Given the description of an element on the screen output the (x, y) to click on. 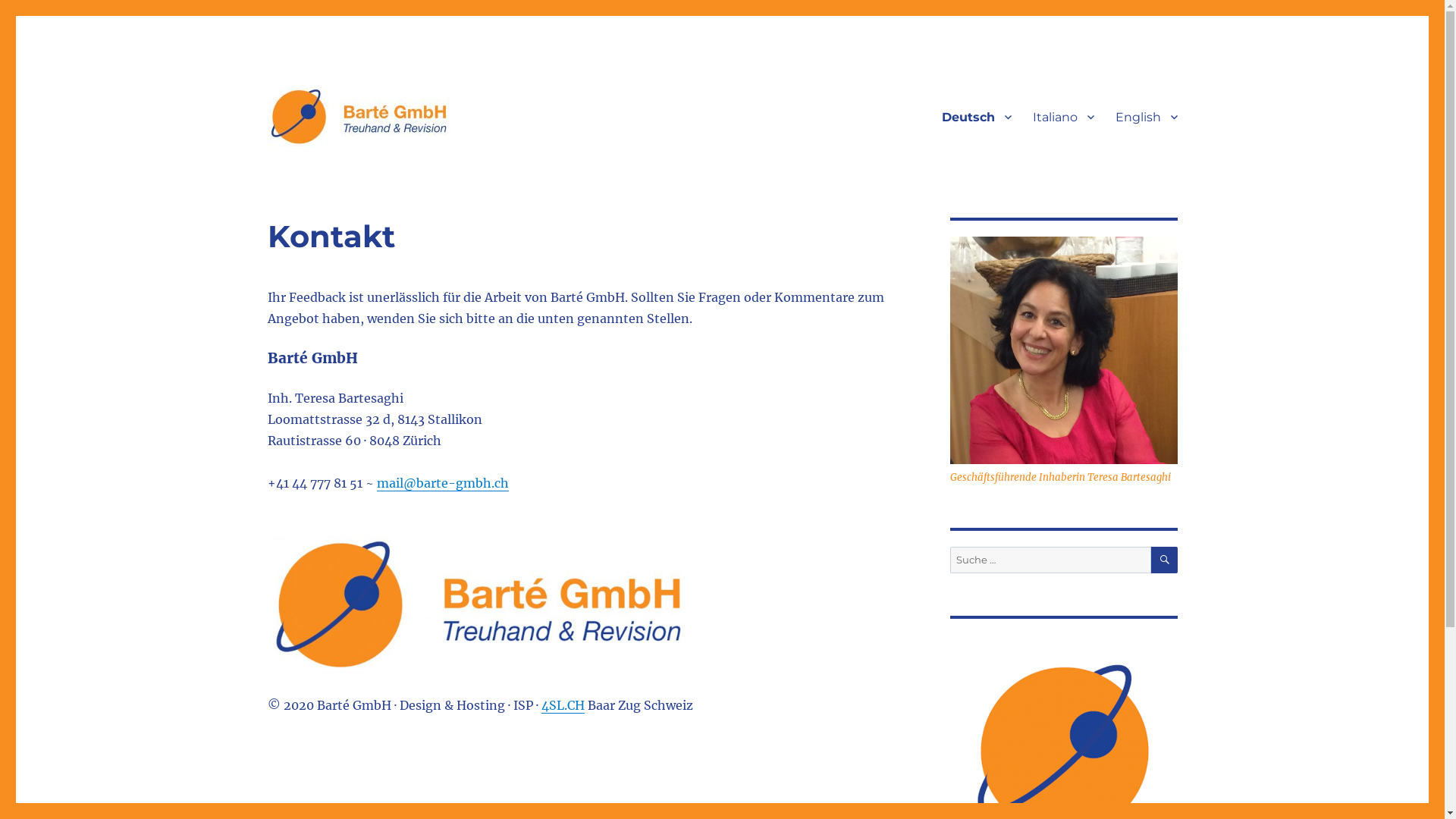
English Element type: text (1145, 116)
Deutsch Element type: text (976, 116)
Italiano Element type: text (1063, 116)
mail@barte-gmbh.ch Element type: text (442, 482)
4SL.CH Element type: text (562, 704)
SUCHEN Element type: text (1164, 559)
